Given the description of an element on the screen output the (x, y) to click on. 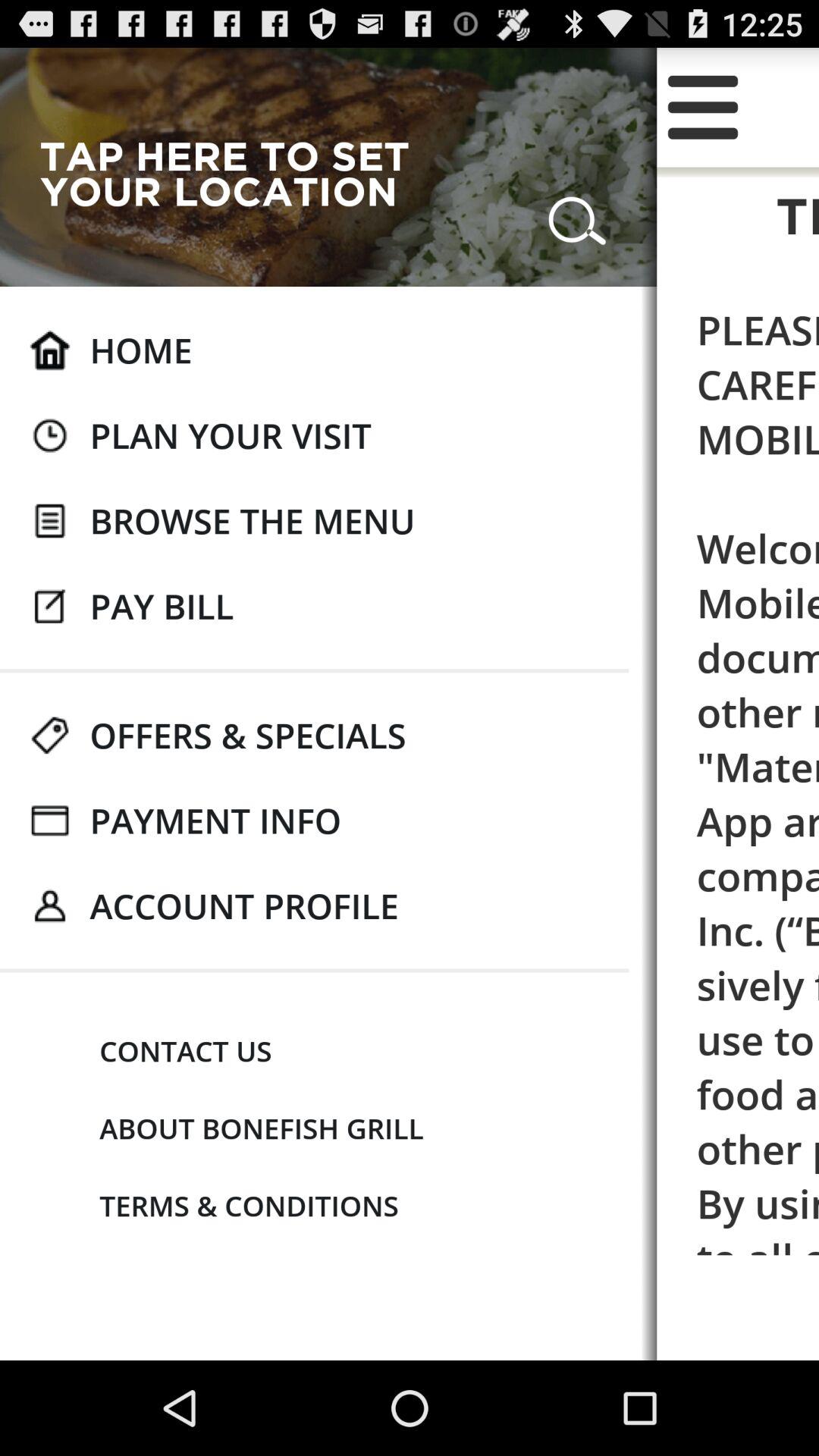
jump to y icon (702, 107)
